Given the description of an element on the screen output the (x, y) to click on. 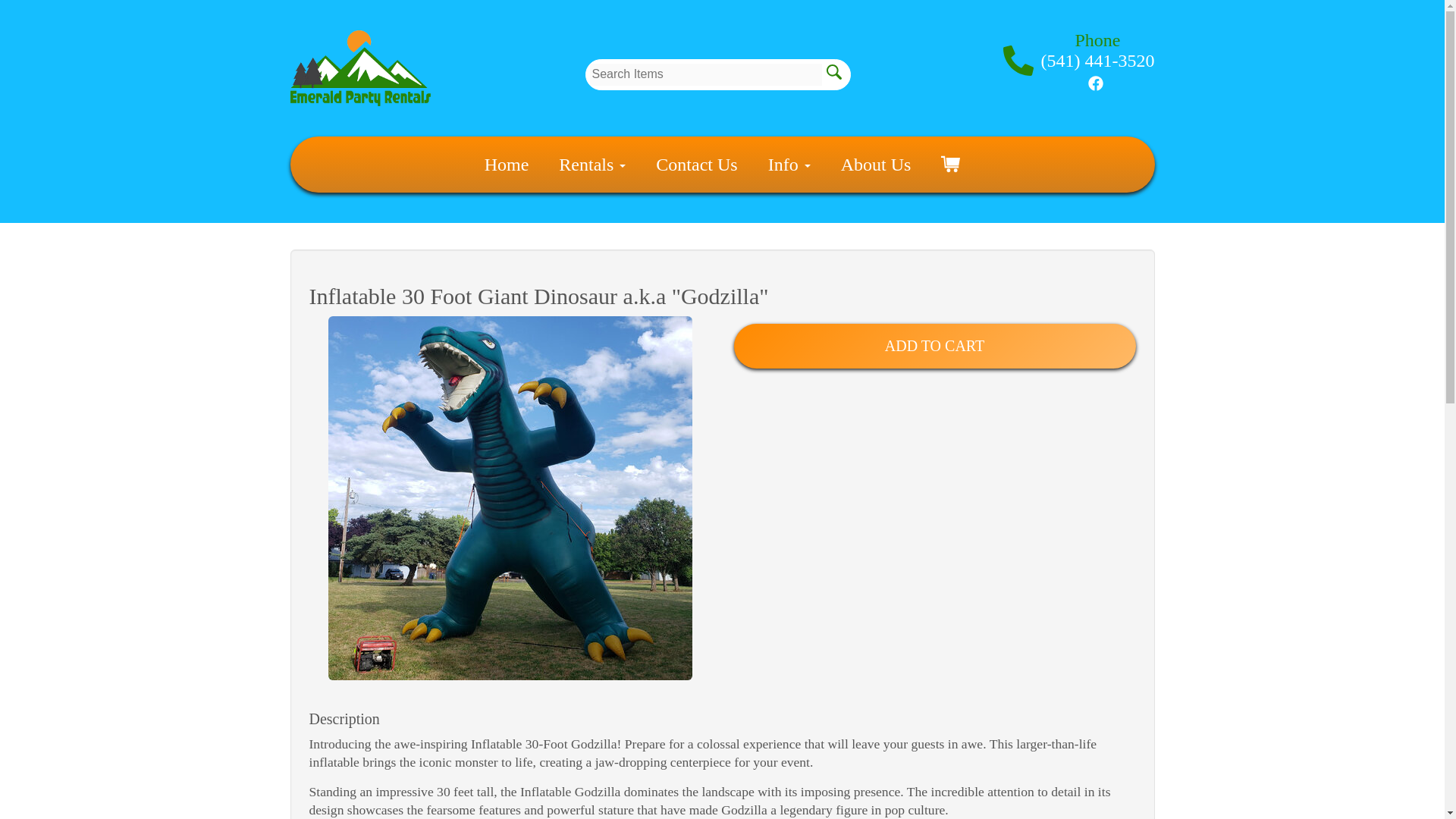
Rentals (592, 164)
Home (506, 164)
Inflatable 30 Foot Giant Dinosaur a.k.a  (509, 498)
Info (789, 164)
Contact Us (696, 164)
About Us (876, 164)
Emerald Party Rentals Facebook (1095, 82)
Emerald Party Rentals (359, 68)
